Given the description of an element on the screen output the (x, y) to click on. 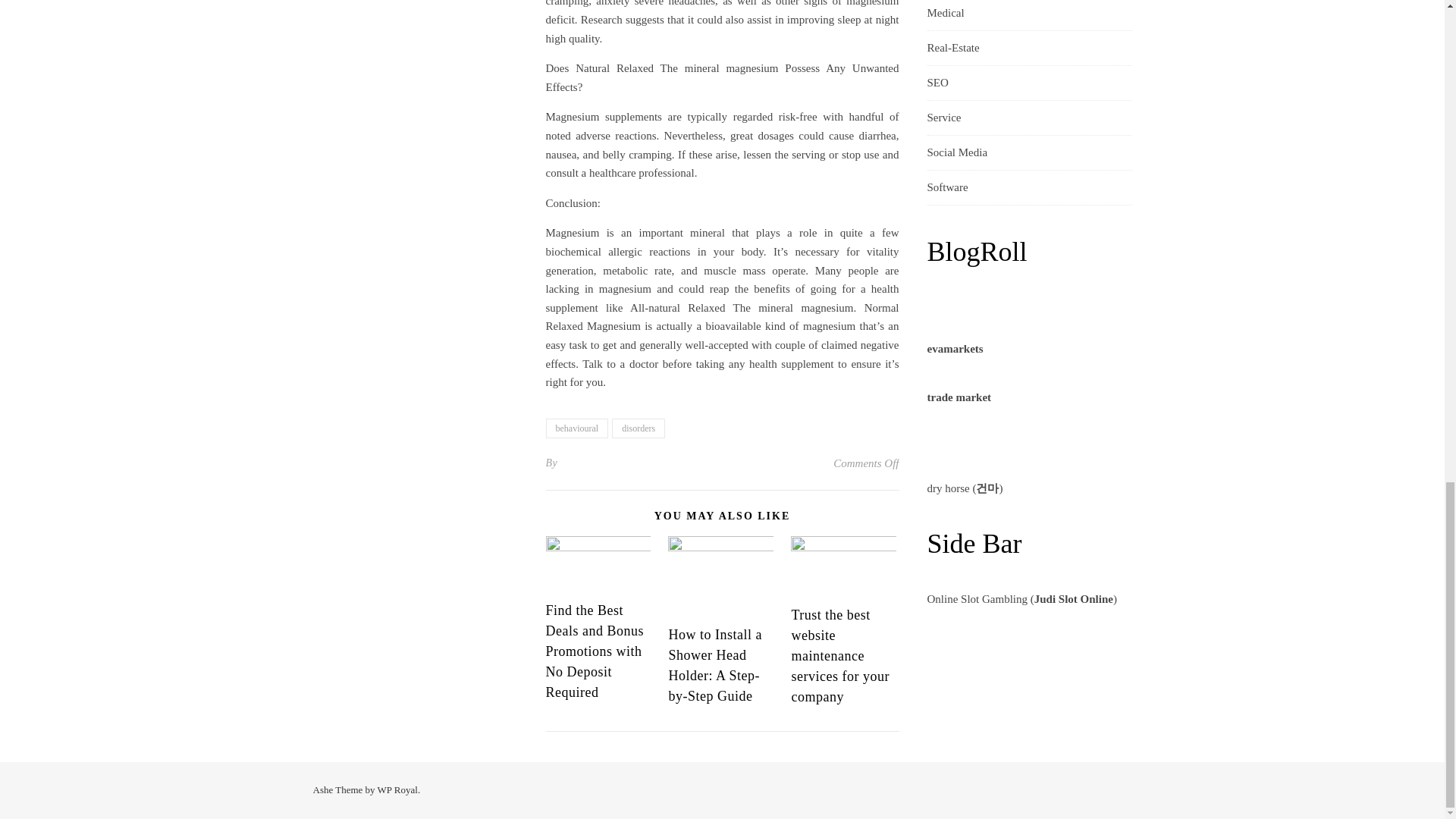
evamarkets (954, 348)
Service (943, 117)
Trust the best website maintenance services for your company (839, 655)
Medical (944, 15)
How to Install a Shower Head Holder: A Step-by-Step Guide (714, 665)
behavioural (577, 428)
Software (947, 187)
Real-Estate (952, 48)
disorders (638, 428)
Social Media (956, 152)
